Given the description of an element on the screen output the (x, y) to click on. 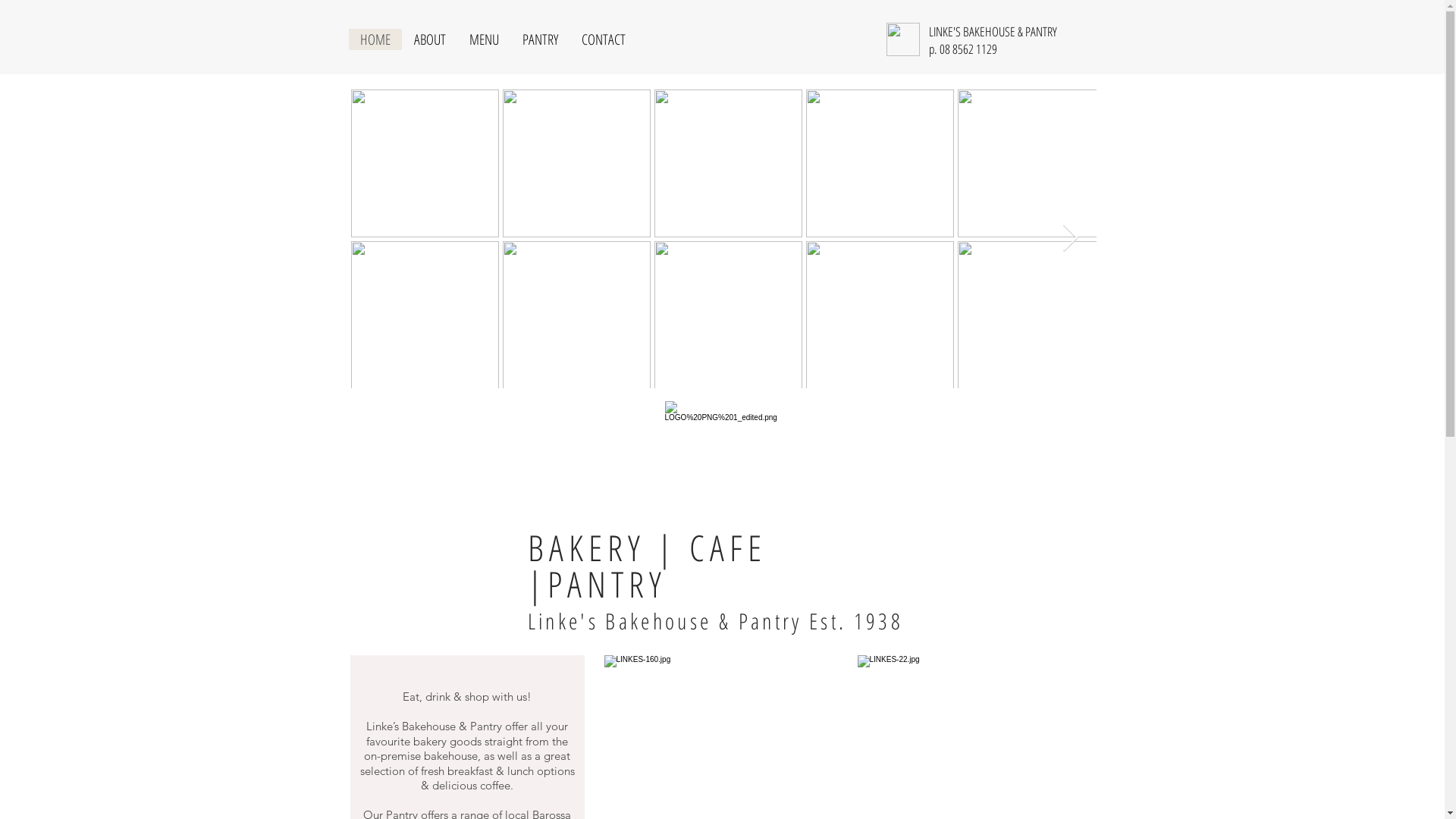
HOME Element type: text (374, 39)
PANTRY Element type: text (538, 39)
CONTACT Element type: text (602, 39)
MENU Element type: text (482, 39)
ABOUT Element type: text (429, 39)
